Given the description of an element on the screen output the (x, y) to click on. 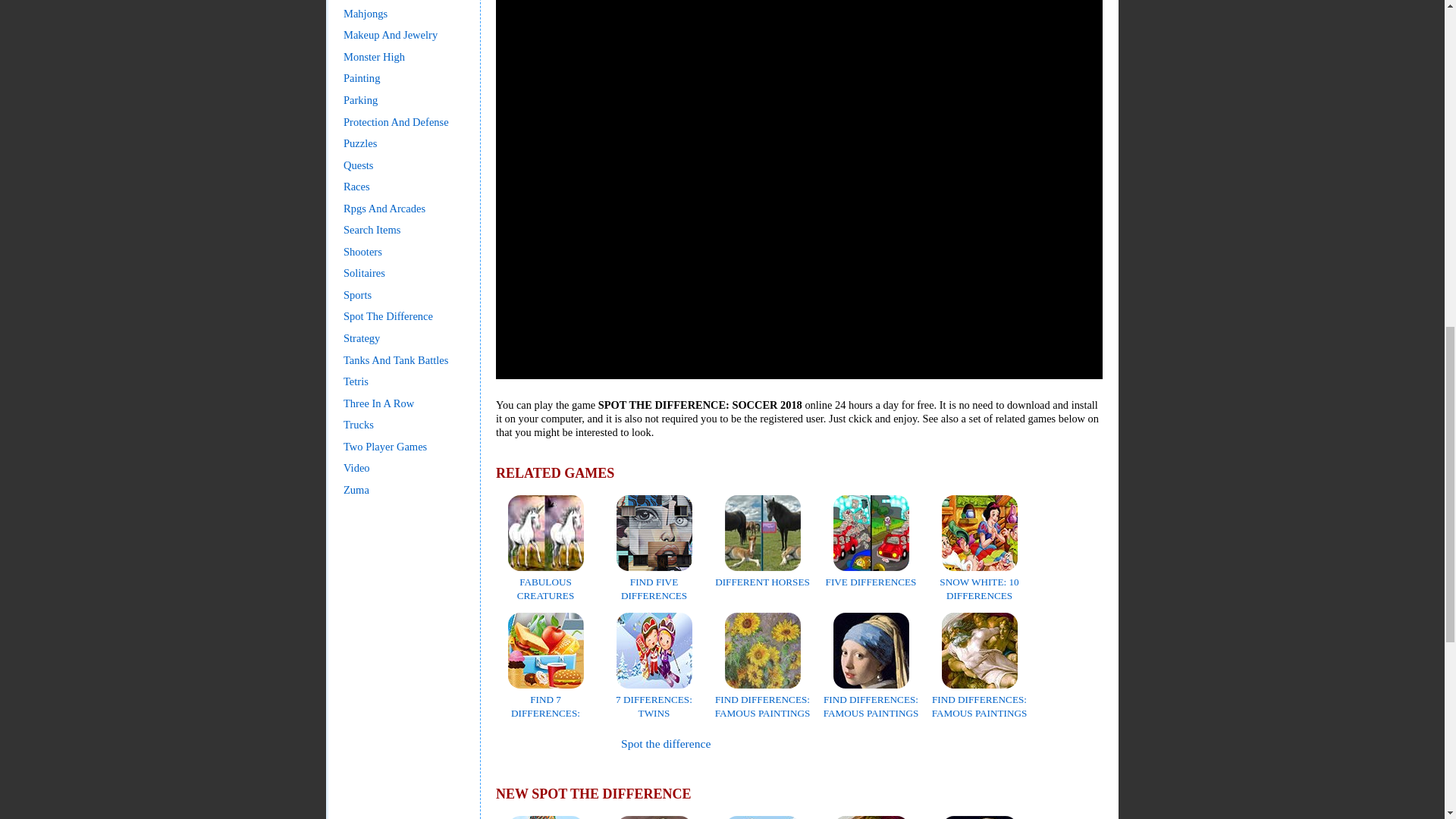
FIND DIFFERENCES: FAMOUS PAINTINGS 1 (762, 706)
FABULOUS CREATURES (545, 581)
All Spot the difference (665, 743)
FABULOUS CREATURES (545, 581)
DIFFERENT HORSES (761, 575)
Spot the difference (665, 743)
FIND FIVE DIFFERENCES (653, 581)
FIND DIFFERENCES: FAMOUS PAINTINGS 2 (871, 706)
FIND FIVE DIFFERENCES (653, 581)
SNOW WHITE: 10 DIFFERENCES (978, 581)
All games (536, 743)
All games (536, 743)
FIVE DIFFERENCES (871, 575)
SNOW WHITE: 10 DIFFERENCES (978, 581)
FIVE DIFFERENCES (871, 575)
